Given the description of an element on the screen output the (x, y) to click on. 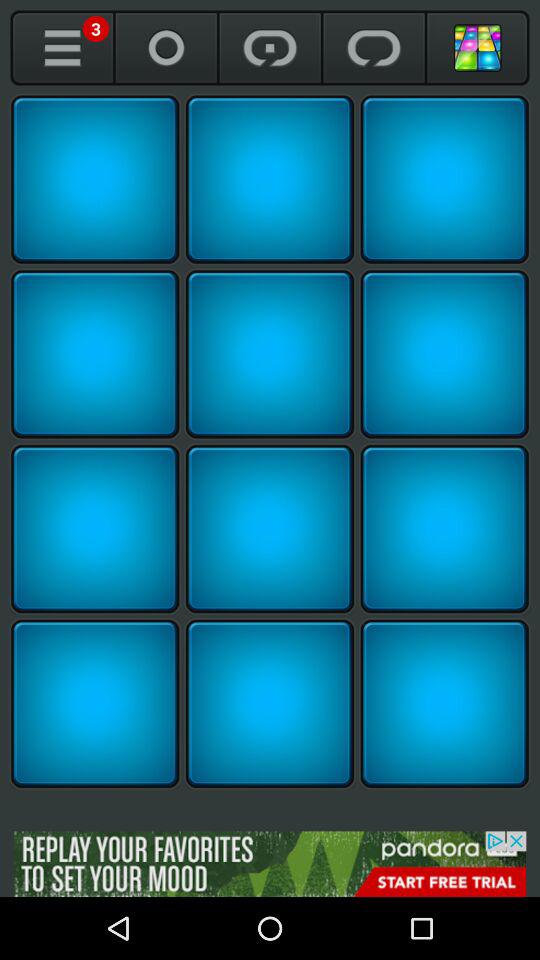
open the advertisement (270, 864)
